Given the description of an element on the screen output the (x, y) to click on. 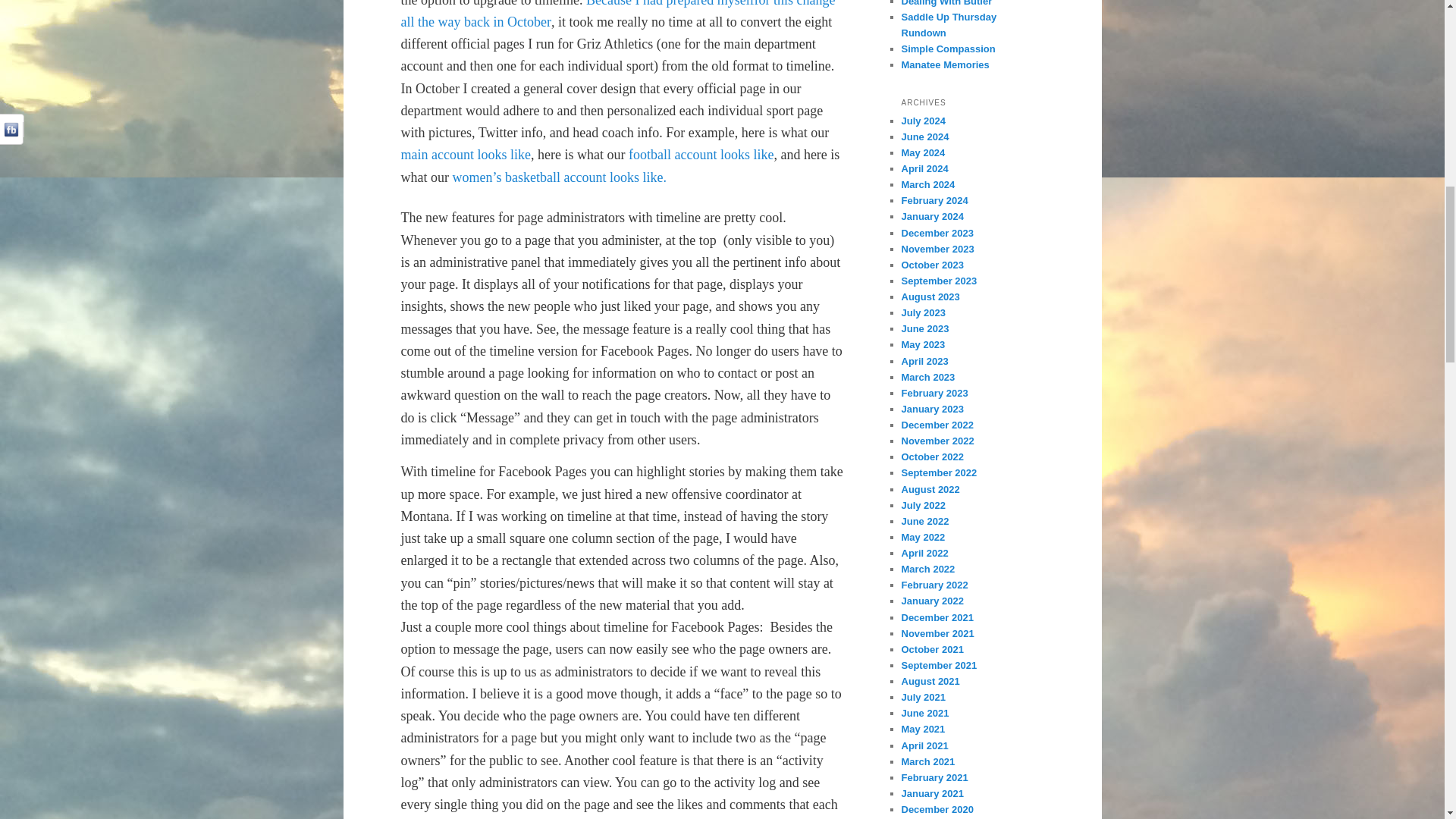
football account looks like (700, 154)
June 2024 (925, 136)
September 2023 (938, 280)
February 2024 (934, 200)
main account looks like (464, 154)
August 2023 (930, 296)
Simple Compassion (947, 48)
November 2023 (937, 248)
March 2024 (928, 184)
Saddle Up Thursday Rundown (948, 24)
January 2024 (931, 215)
Manatee Memories (944, 64)
May 2024 (922, 152)
October 2023 (931, 265)
